Given the description of an element on the screen output the (x, y) to click on. 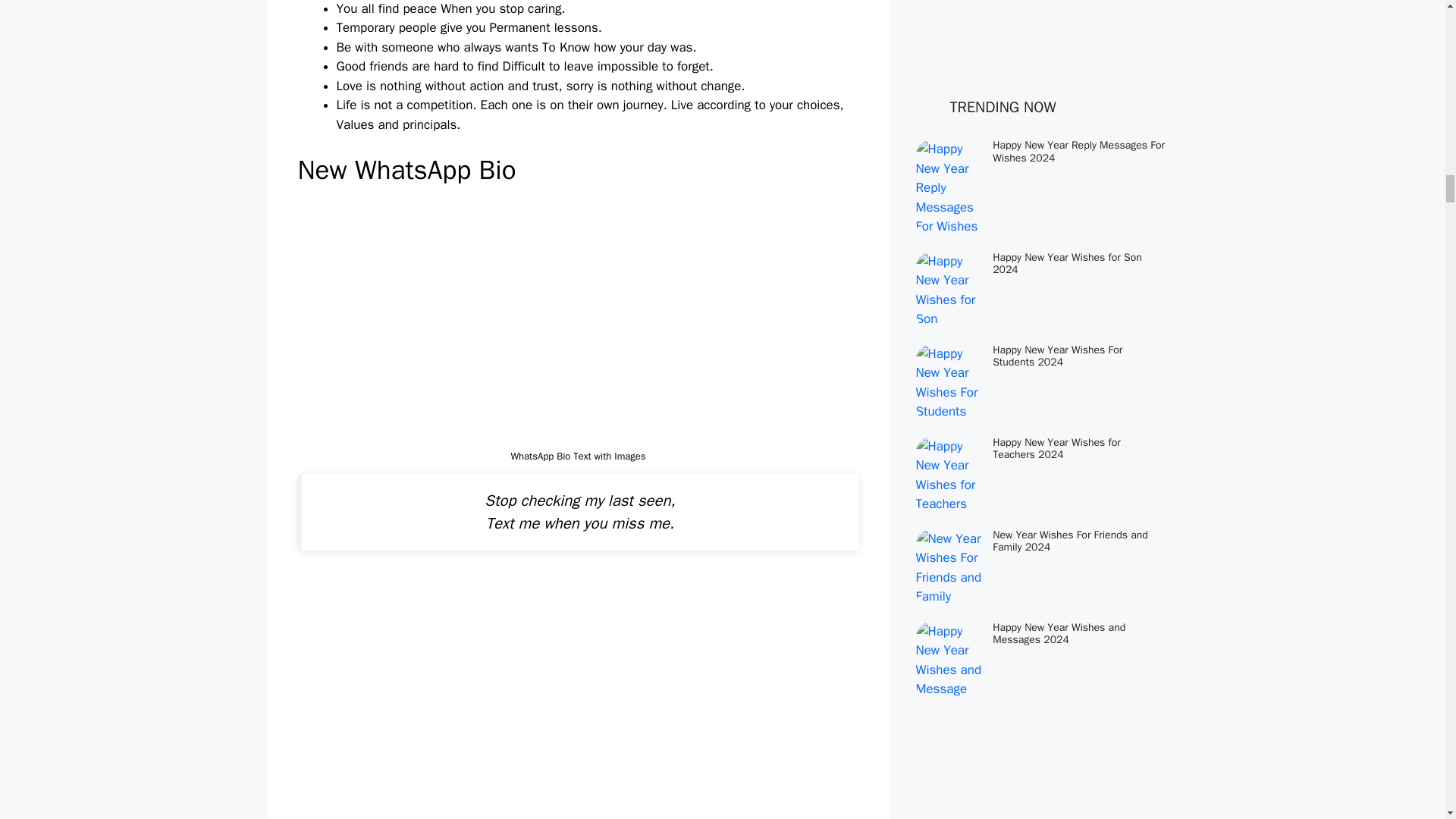
WhatsApp Bio Text with Images (577, 322)
WhatsApp Bio Text with Images (577, 695)
